Given the description of an element on the screen output the (x, y) to click on. 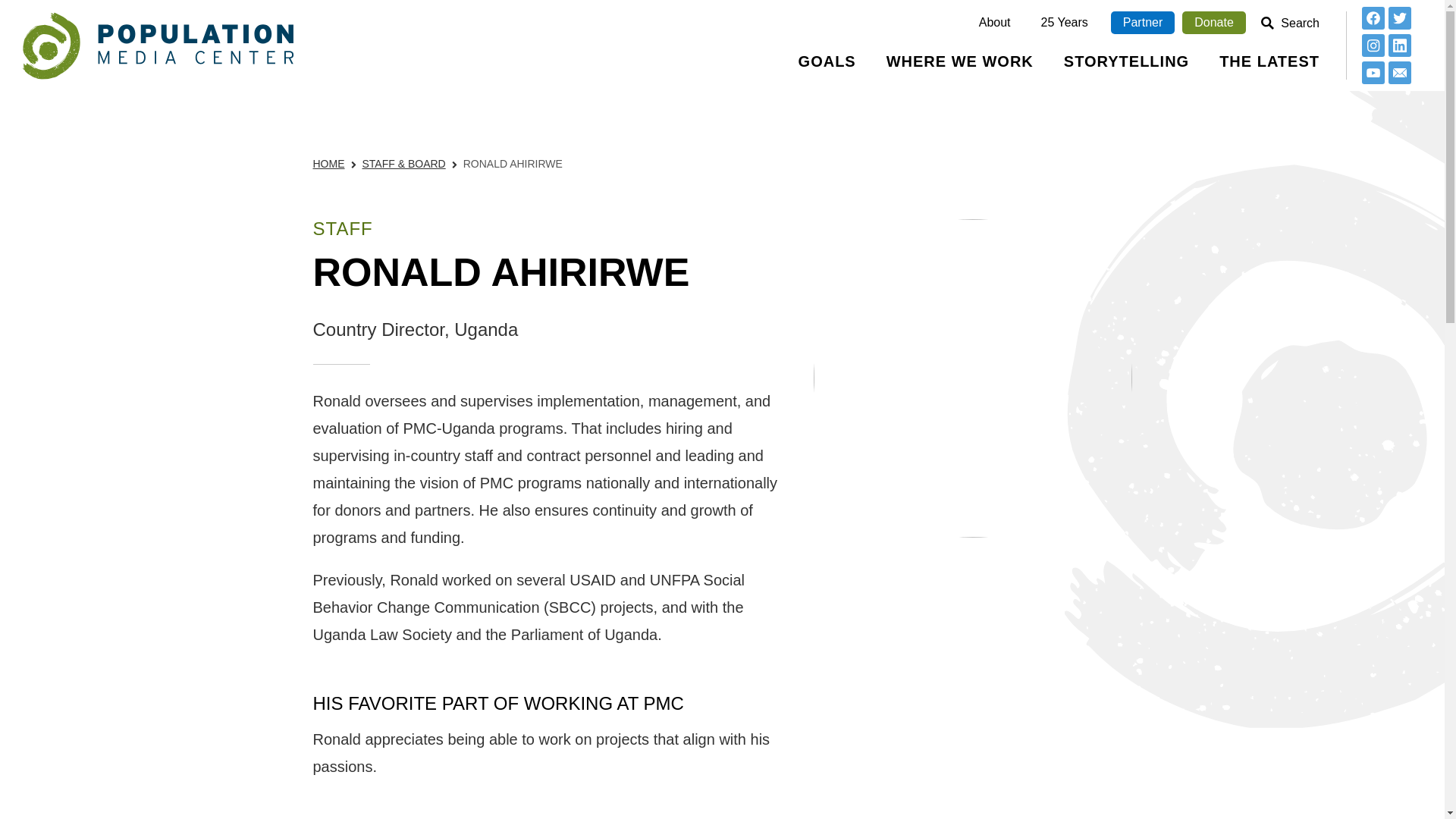
search Search (1290, 22)
search (1267, 22)
THE LATEST (1269, 67)
About (994, 22)
WHERE WE WORK (959, 67)
GOALS (826, 67)
homepage (158, 45)
HOME (328, 163)
25 Years (1064, 22)
